Given the description of an element on the screen output the (x, y) to click on. 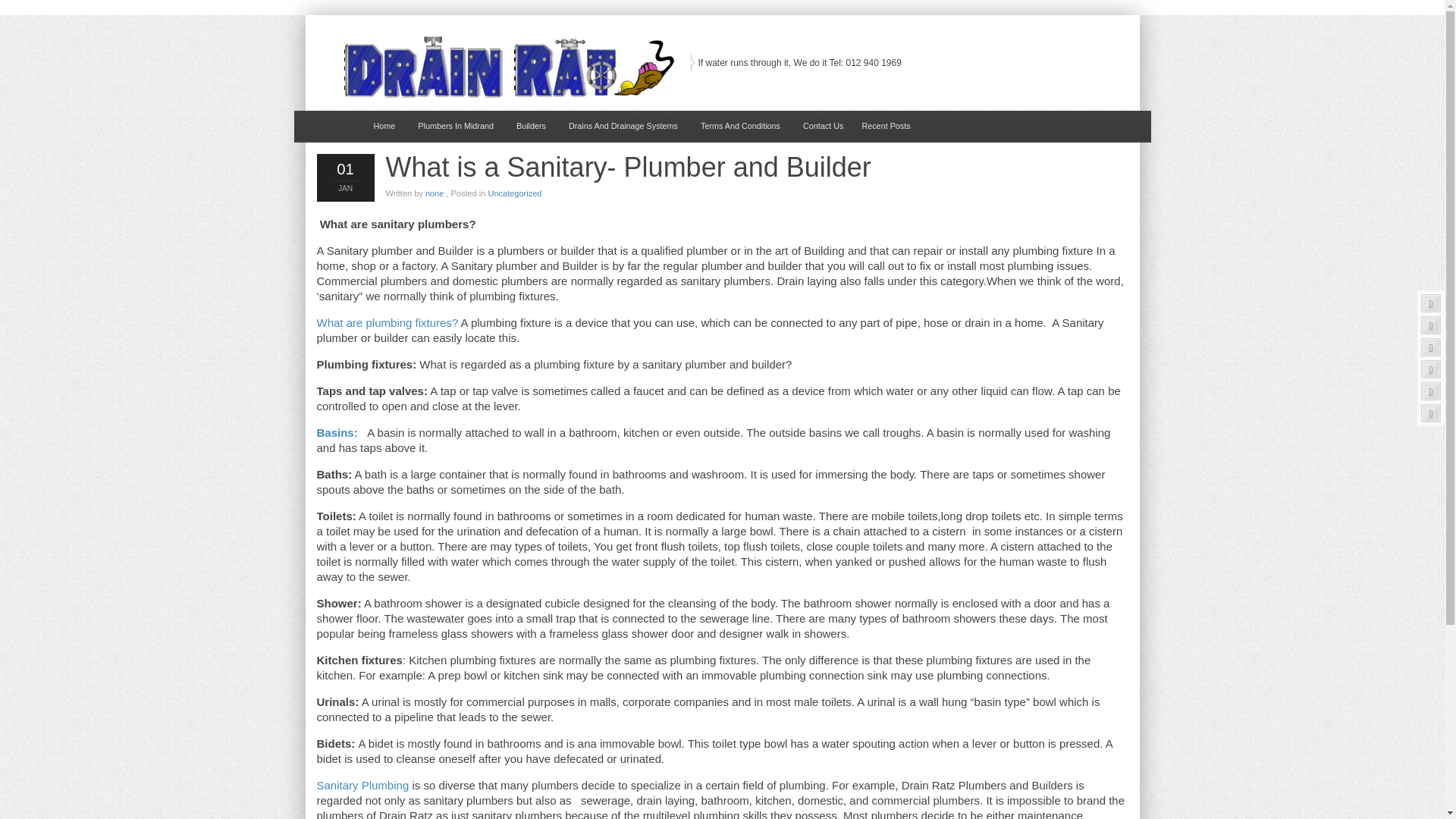
Terms And Conditions (740, 125)
Sanitary Plumbing (363, 784)
Plumbers In Midrand (455, 125)
Contact Us (823, 125)
Basins: (337, 431)
none (434, 193)
Builders (531, 125)
What are plumbing fixtures?  (389, 322)
Home (384, 125)
What is a Sanitary- Plumber and Builder (627, 166)
Uncategorized (514, 193)
Drains And Drainage Systems (622, 125)
What is a Sanitary- Plumber and Builder (627, 166)
